Given the description of an element on the screen output the (x, y) to click on. 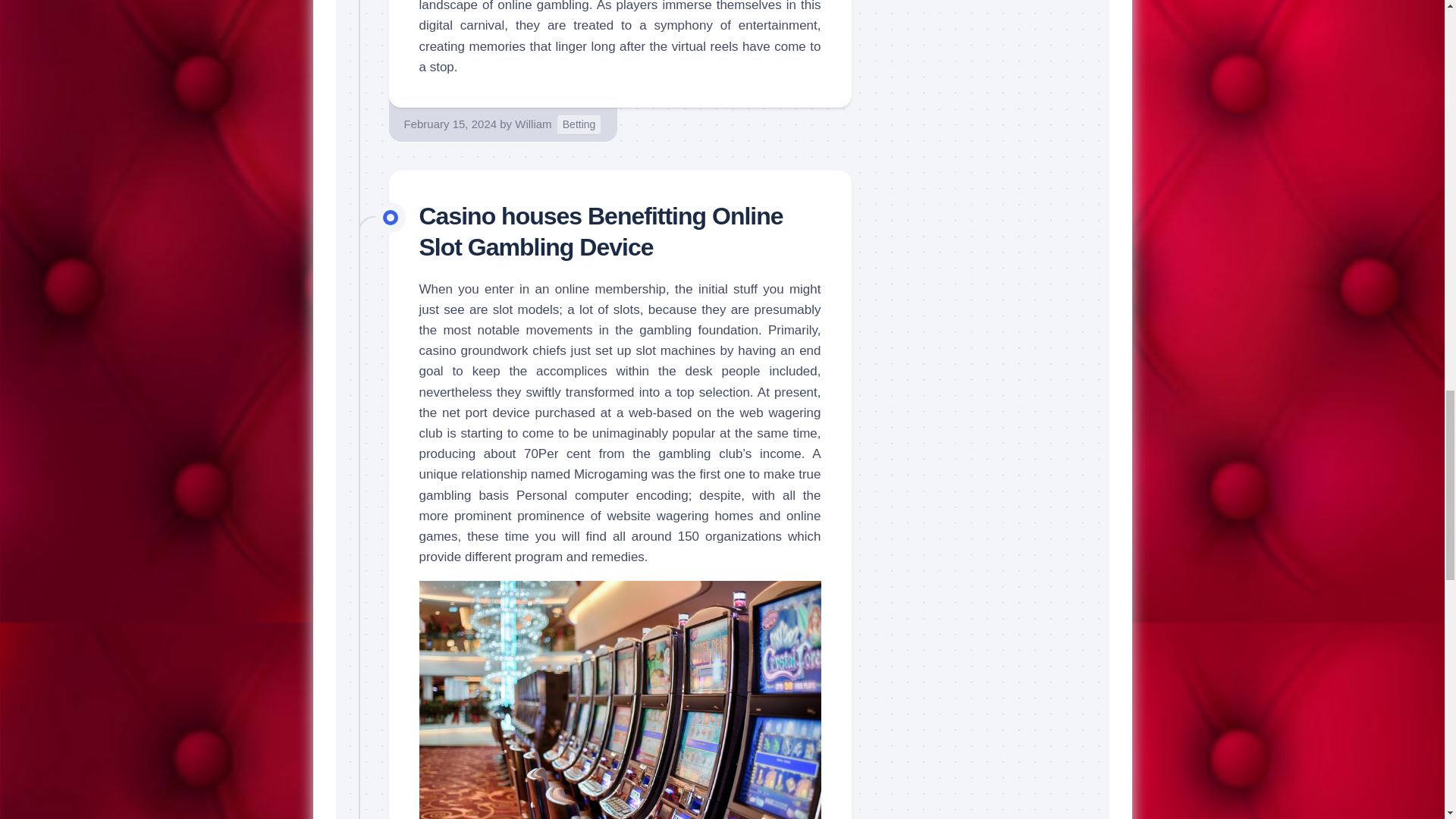
William (533, 123)
Casino houses Benefitting Online Slot Gambling Device (601, 231)
Betting (579, 124)
Posts by William (533, 123)
